Given the description of an element on the screen output the (x, y) to click on. 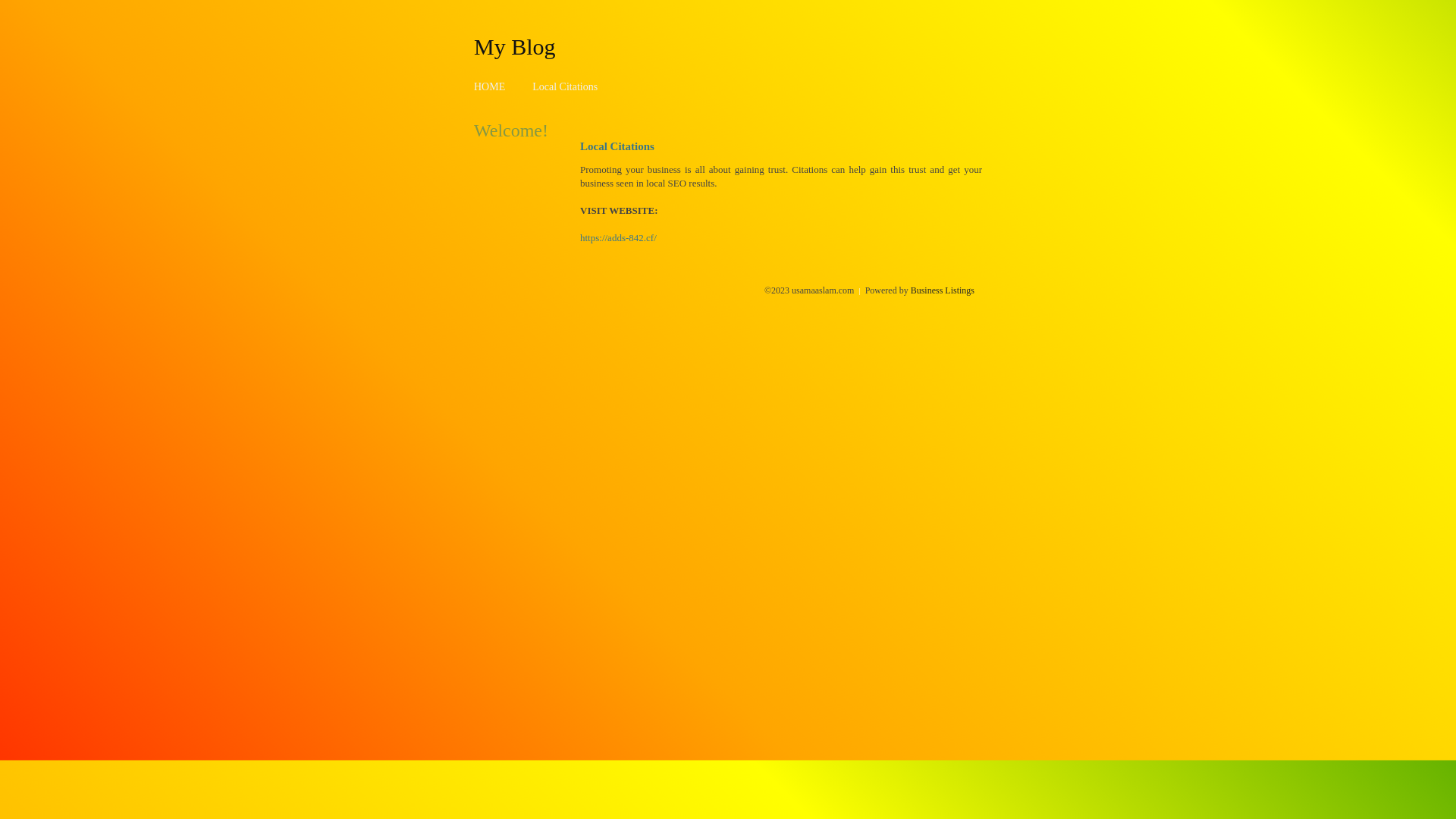
My Blog Element type: text (514, 46)
HOME Element type: text (489, 86)
Business Listings Element type: text (942, 290)
Local Citations Element type: text (564, 86)
https://adds-842.cf/ Element type: text (618, 237)
